Given the description of an element on the screen output the (x, y) to click on. 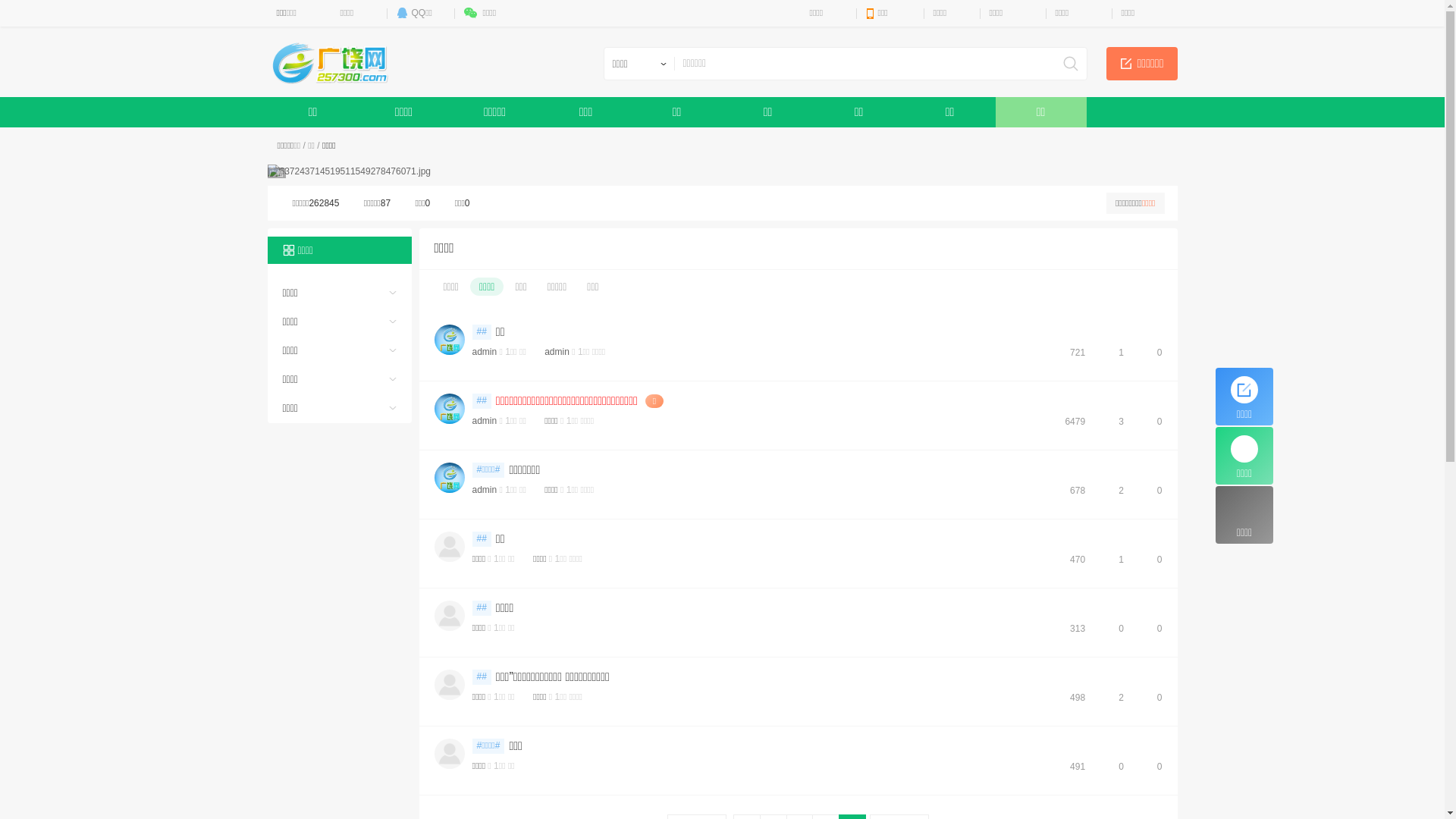
498 Element type: text (1070, 697)
0 Element type: text (1152, 352)
3 Element type: text (1113, 421)
313 Element type: text (1070, 628)
1 Element type: text (1113, 559)
491 Element type: text (1070, 766)
0 Element type: text (1152, 559)
2 Element type: text (1113, 490)
0 Element type: text (1113, 766)
0 Element type: text (1152, 628)
2 Element type: text (1113, 697)
0 Element type: text (1152, 766)
0 Element type: text (1152, 490)
470 Element type: text (1070, 559)
1 Element type: text (1113, 352)
721 Element type: text (1070, 352)
0 Element type: text (1152, 421)
6479 Element type: text (1067, 421)
637243714519511549278476071.jpg Element type: hover (348, 171)
0 Element type: text (1113, 628)
678 Element type: text (1070, 490)
0 Element type: text (1152, 697)
